Given the description of an element on the screen output the (x, y) to click on. 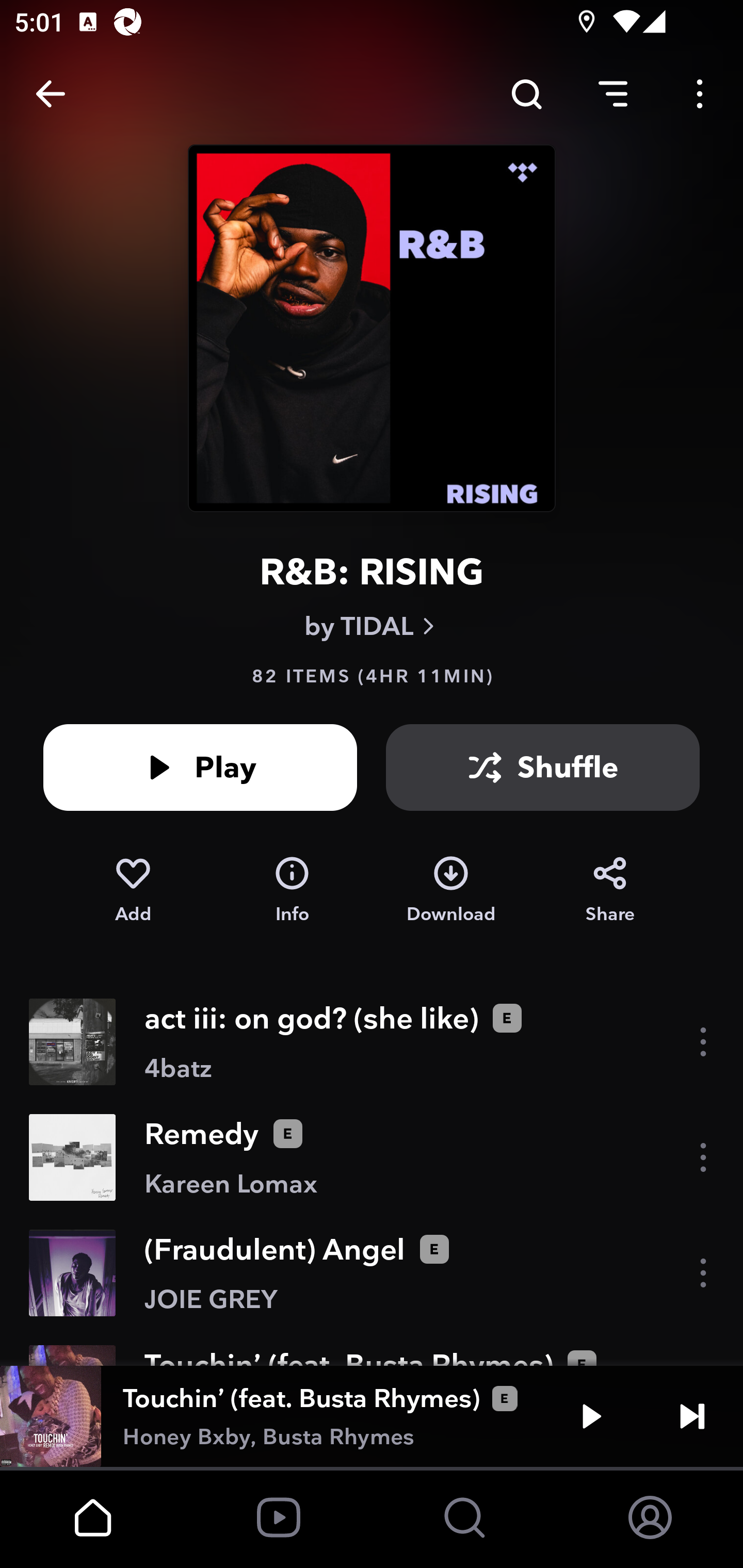
Back (50, 93)
Search (525, 93)
Sorting (612, 93)
Options (699, 93)
by TIDAL (371, 625)
Play (200, 767)
Shuffle (542, 767)
Add (132, 890)
Info (291, 890)
Download (450, 890)
Share (609, 890)
act iii: on god? (she like) 4batz (371, 1041)
Remedy Kareen Lomax (371, 1157)
(Fraudulent) Angel JOIE GREY (371, 1273)
Play (590, 1416)
